Given the description of an element on the screen output the (x, y) to click on. 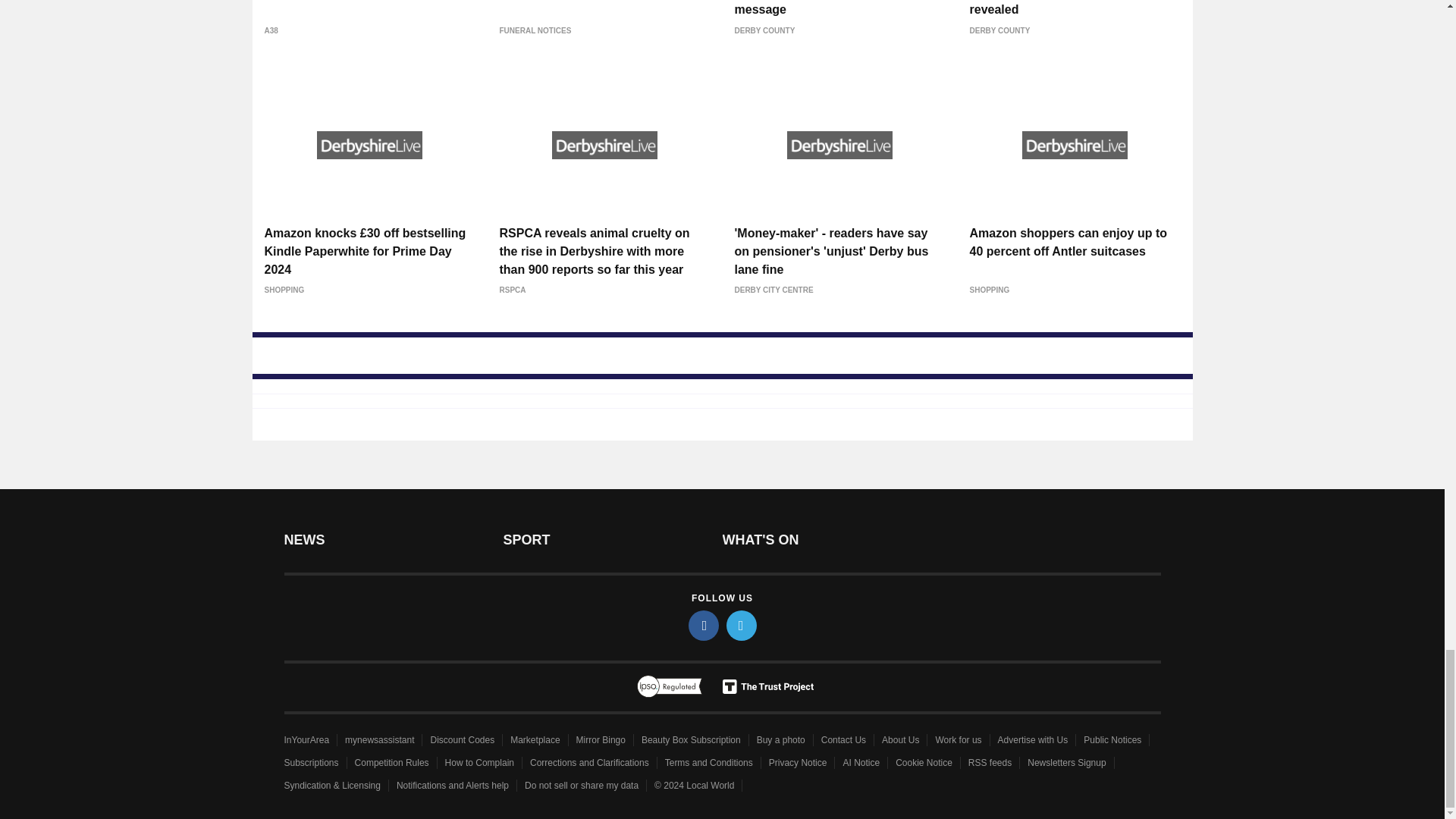
facebook (703, 625)
twitter (741, 625)
